Given the description of an element on the screen output the (x, y) to click on. 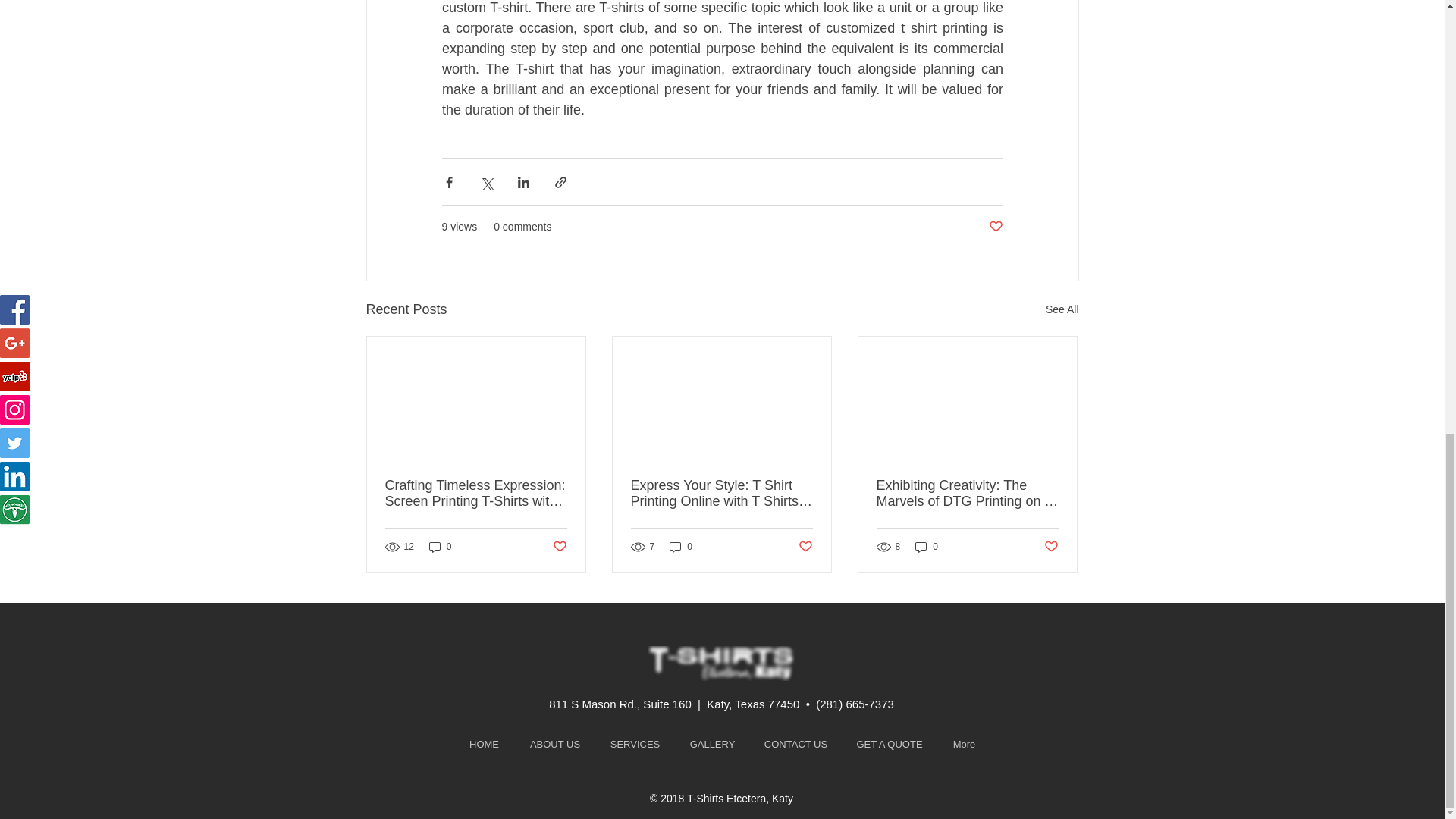
0 (440, 545)
0 (681, 545)
Post not marked as liked (995, 227)
Post not marked as liked (804, 546)
Post not marked as liked (558, 546)
0 (926, 545)
See All (1061, 309)
